Given the description of an element on the screen output the (x, y) to click on. 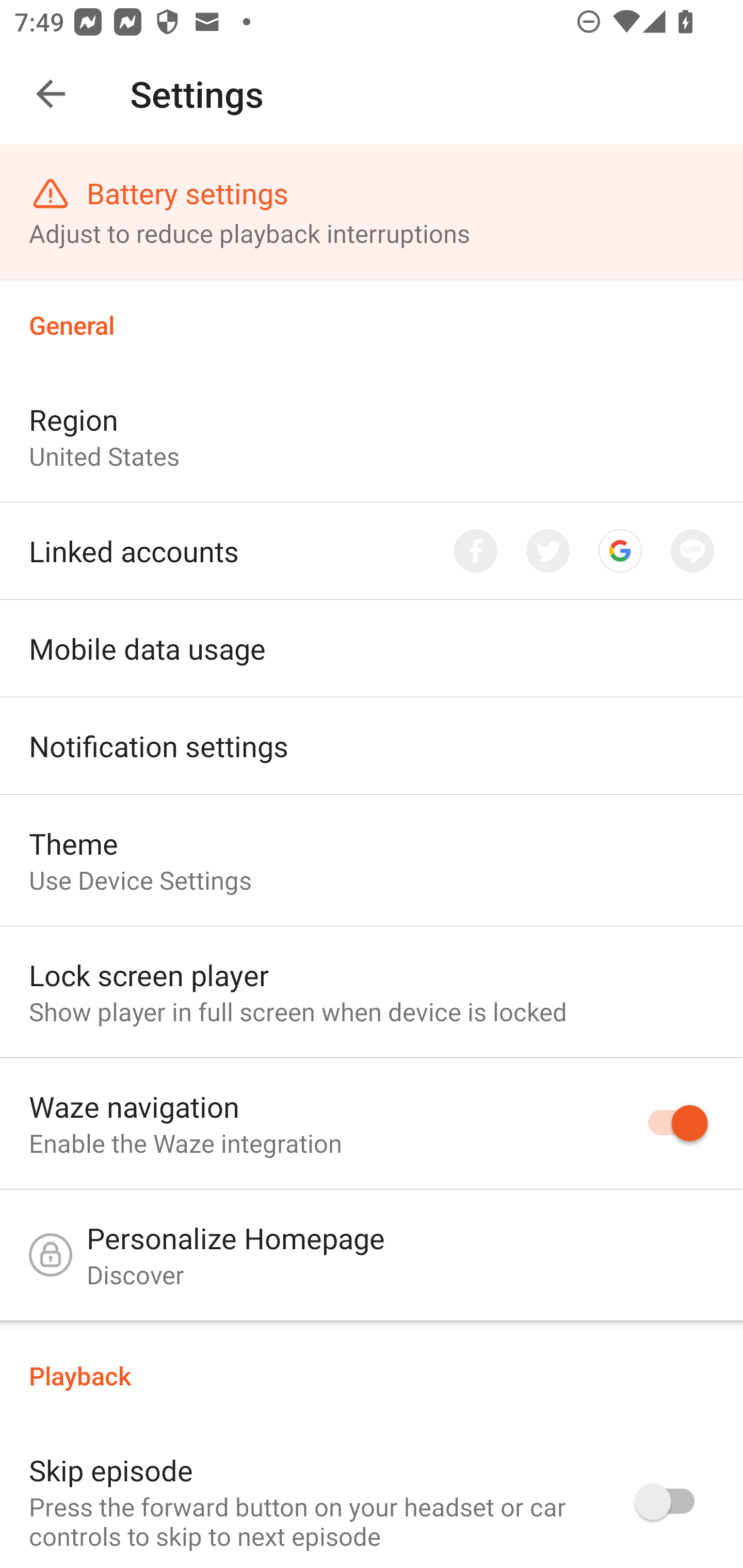
Navigate up (50, 93)
Region United States (371, 436)
Linked accounts (371, 550)
Mobile data usage (371, 648)
Notification settings (371, 745)
Theme Use Device Settings (371, 860)
Waze navigation Enable the Waze integration (371, 1124)
Personalize Homepage Discover (371, 1259)
